Given the description of an element on the screen output the (x, y) to click on. 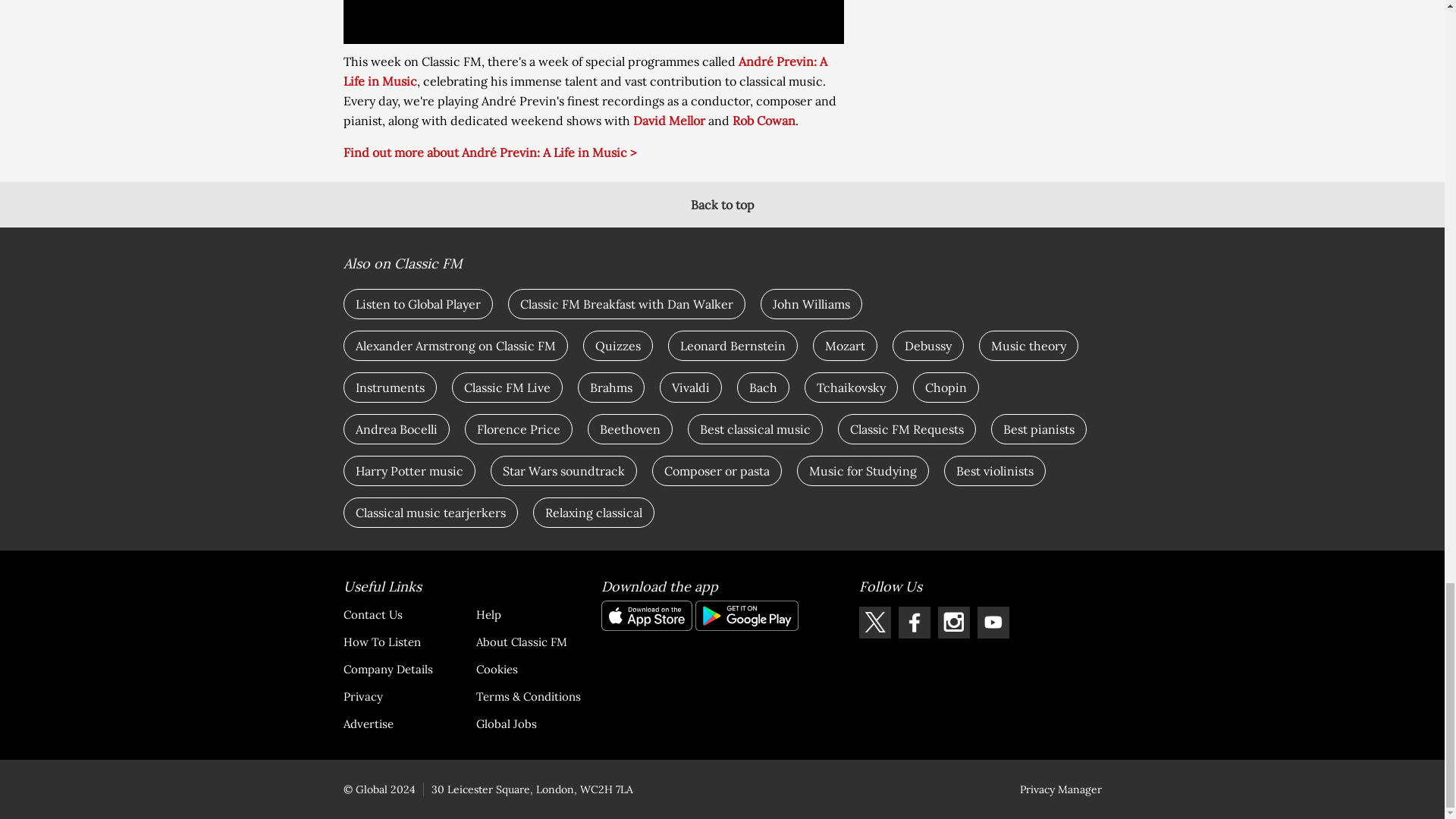
Follow Classic FM on Facebook (914, 622)
Rob Cowan (763, 120)
Follow Classic FM on X (874, 622)
Follow Classic FM on Instagram (953, 622)
Follow Classic FM on Youtube (992, 622)
David Mellor (667, 120)
Back to top (722, 204)
